Given the description of an element on the screen output the (x, y) to click on. 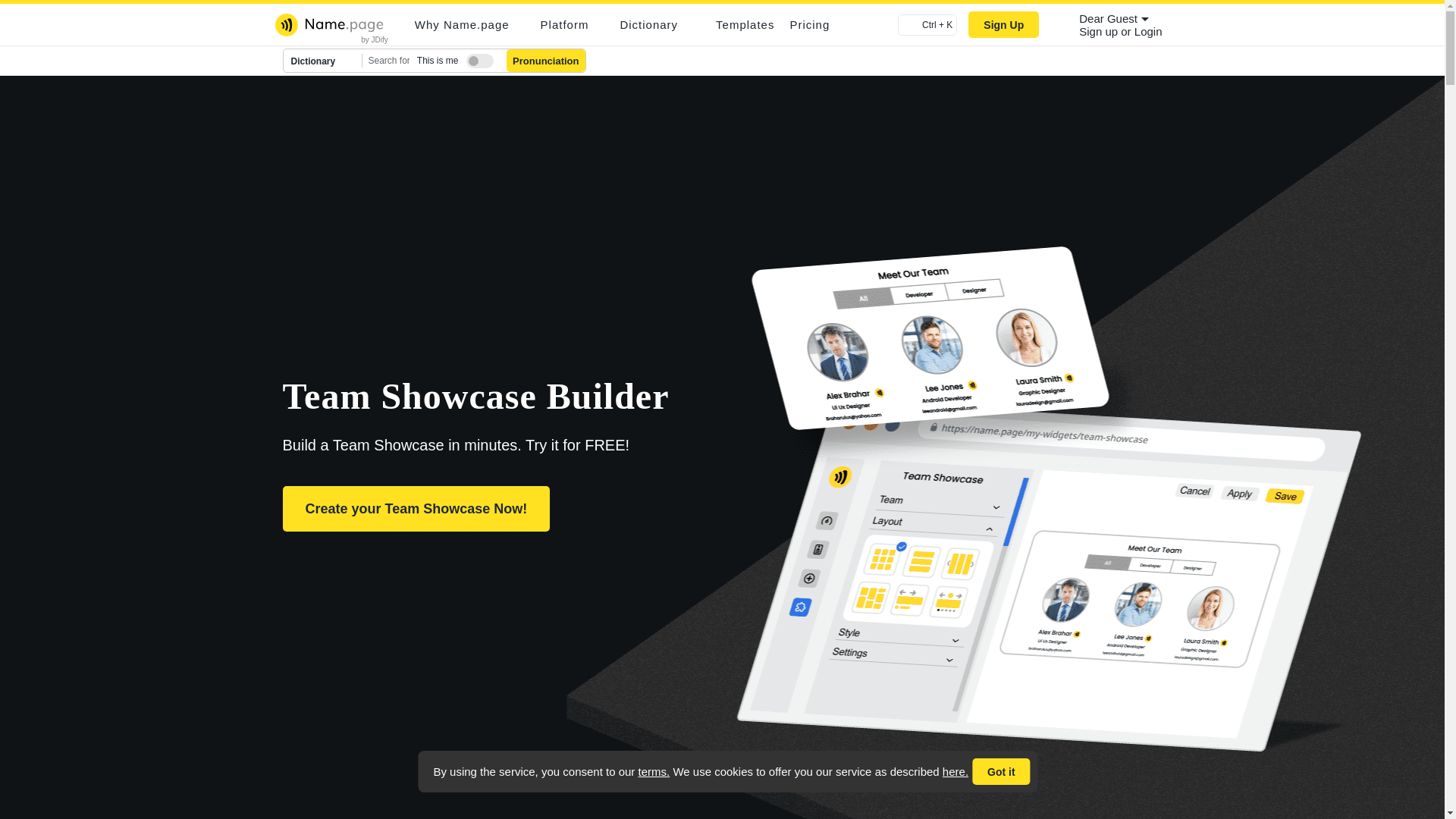
Dictionary (322, 60)
Pronunciation (545, 60)
Sign Up (1003, 24)
Sign in to your account (1147, 31)
Is this your name? (476, 58)
Login (1147, 31)
by JDify (374, 39)
Pricing (809, 24)
Search name pronunciation (545, 60)
Sign-up it's free and takes just 2 minutes (1099, 31)
Templates (745, 24)
Sign up (1099, 31)
